Given the description of an element on the screen output the (x, y) to click on. 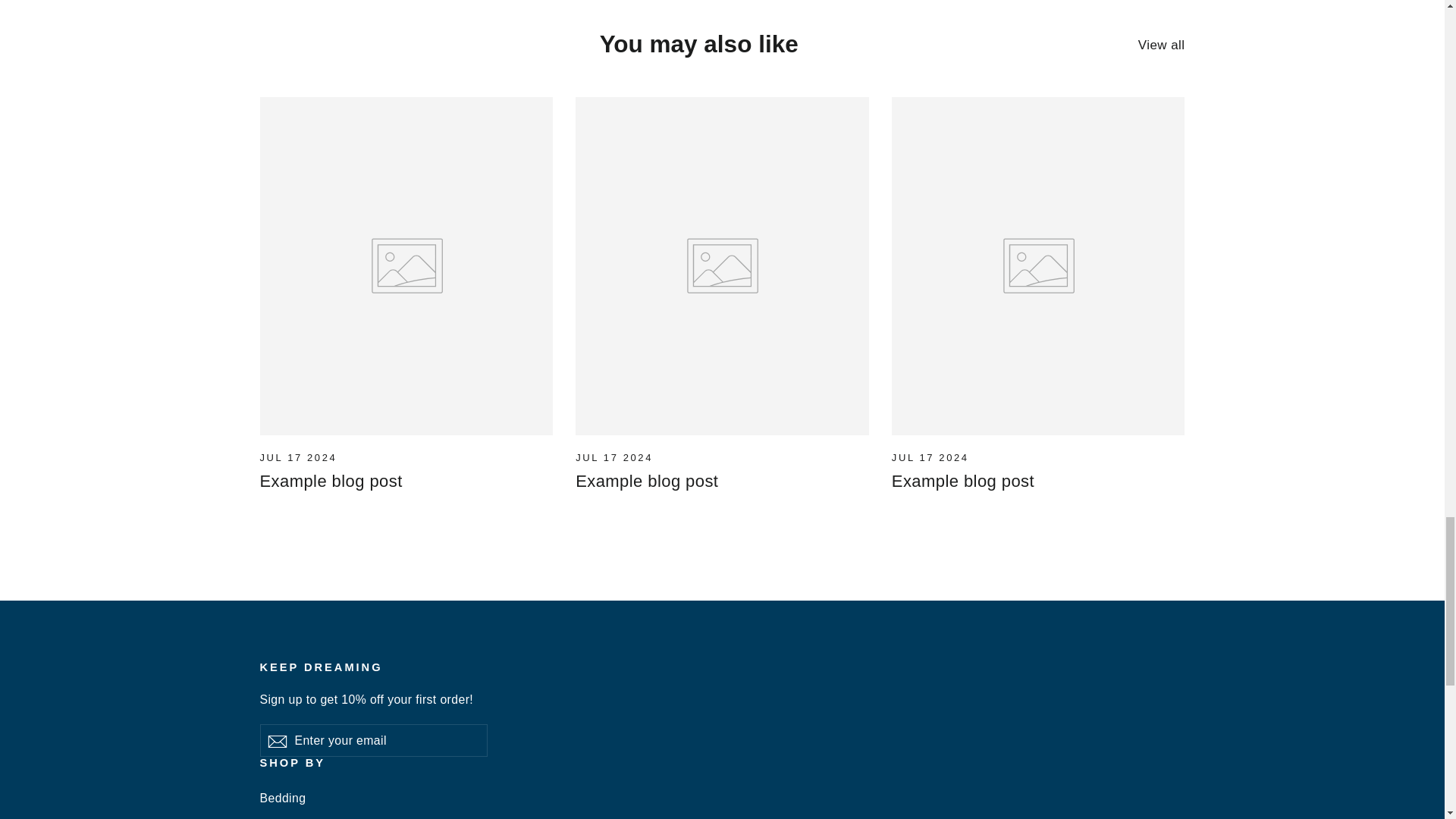
icon-email (276, 741)
